Given the description of an element on the screen output the (x, y) to click on. 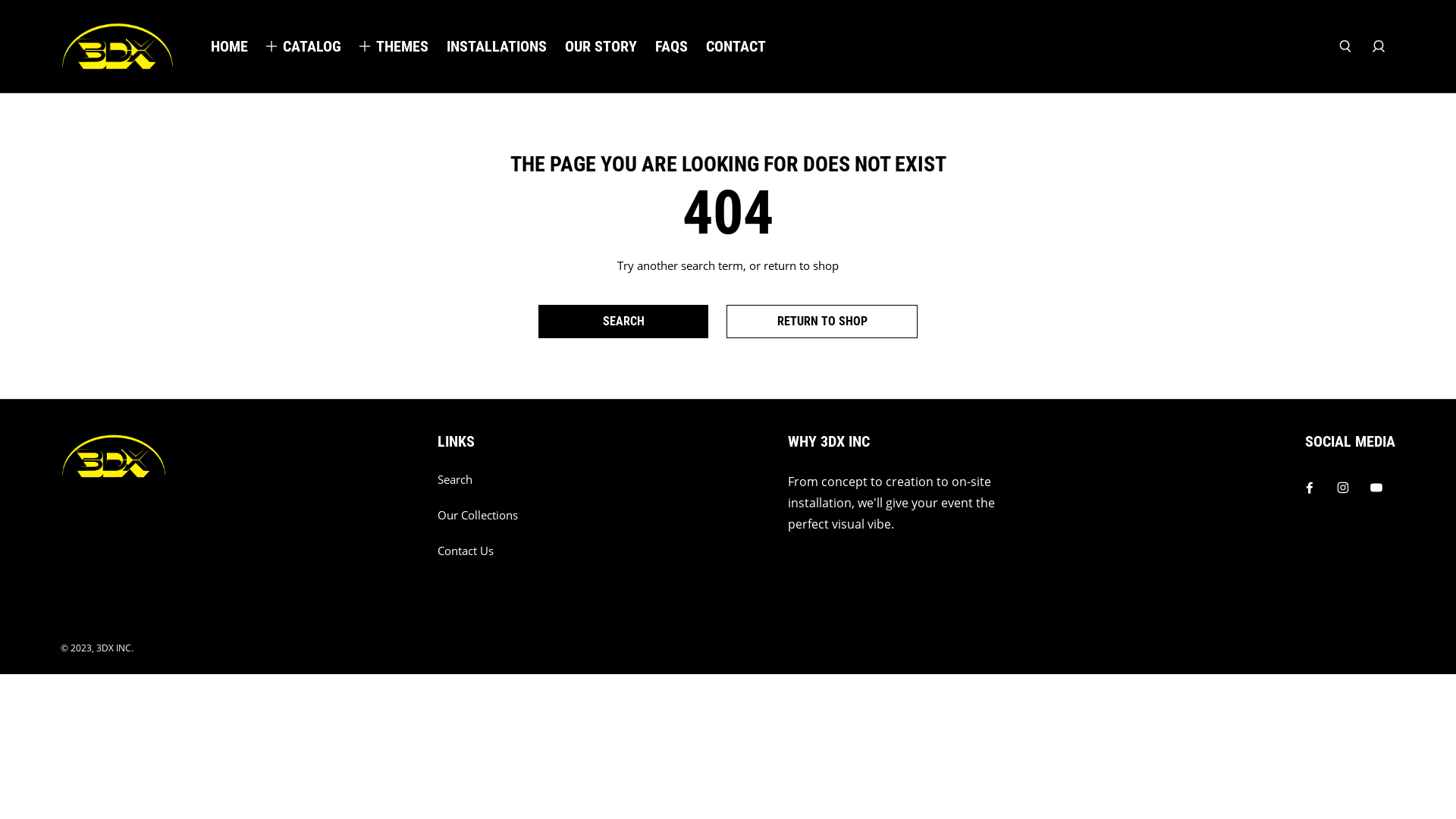
SEARCH Element type: text (623, 321)
FAQS Element type: text (671, 45)
Search Element type: text (454, 479)
RETURN TO SHOP Element type: text (821, 321)
CONTACT Element type: text (735, 45)
THEMES Element type: text (402, 45)
OUR STORY Element type: text (600, 45)
3DX INC. Element type: text (114, 648)
Contact Us Element type: text (465, 550)
CATALOG Element type: text (311, 45)
INSTALLATIONS Element type: text (496, 45)
HOME Element type: text (228, 45)
Our Collections Element type: text (477, 515)
